Given the description of an element on the screen output the (x, y) to click on. 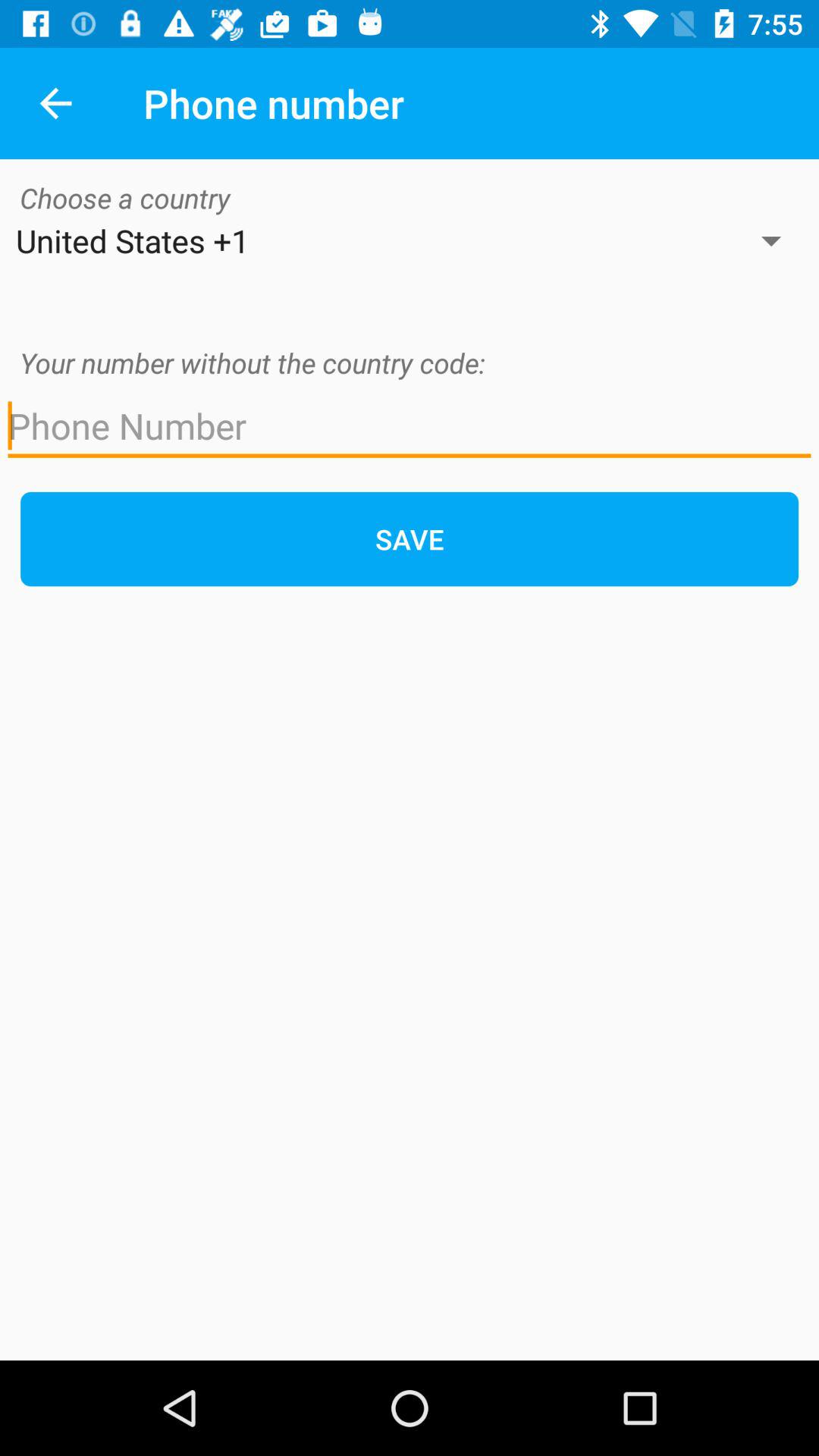
enter phone number (409, 426)
